Given the description of an element on the screen output the (x, y) to click on. 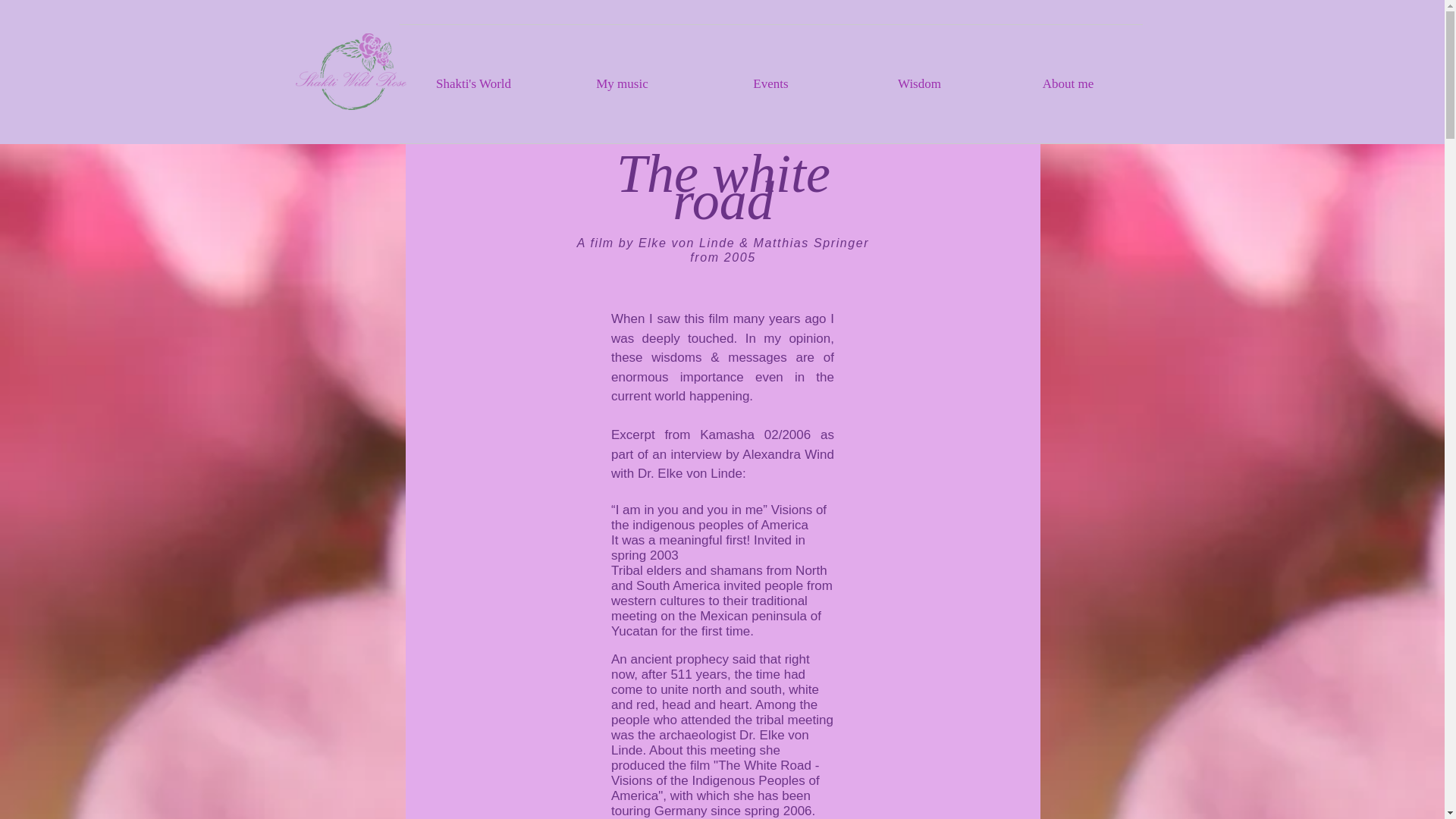
Shakti's World (472, 84)
About me (1066, 84)
